Given the description of an element on the screen output the (x, y) to click on. 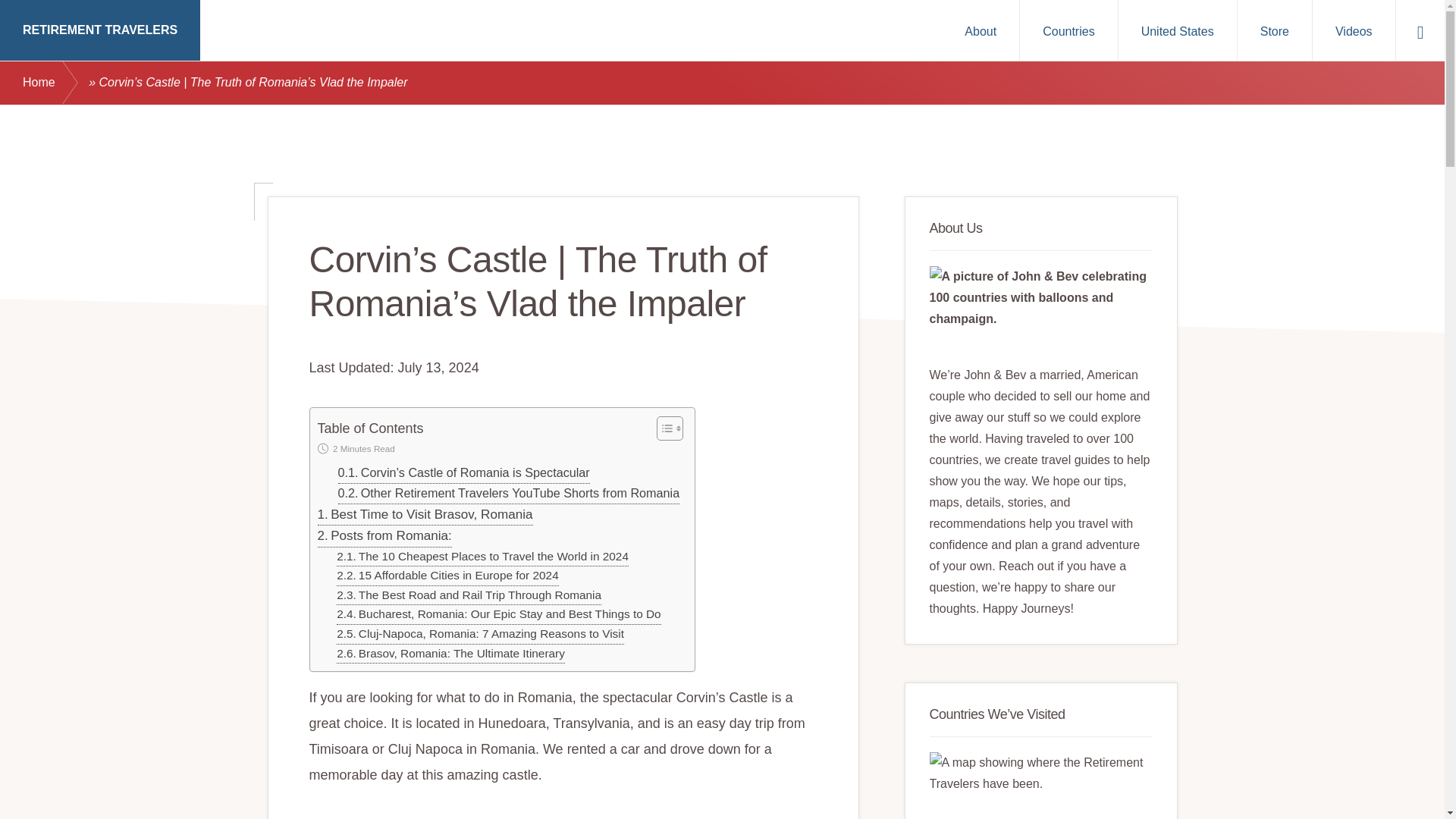
Home (54, 82)
15 Affordable Cities in Europe for 2024 (447, 576)
Store (1274, 30)
Bucharest, Romania: Our Epic Stay and Best Things to Do (498, 614)
United States (1177, 30)
RETIREMENT TRAVELERS (100, 30)
Other Retirement Travelers YouTube Shorts from Romania (508, 494)
The Best Road and Rail Trip Through Romania (468, 596)
Cluj-Napoca, Romania: 7 Amazing Reasons to Visit (480, 634)
Brasov, Romania: The Ultimate Itinerary (450, 654)
About (980, 30)
Posts from Romania: (384, 536)
Best Time to Visit Brasov, Romania (424, 514)
Countries (1068, 30)
The 10 Cheapest Places to Travel the World in 2024 (482, 557)
